Given the description of an element on the screen output the (x, y) to click on. 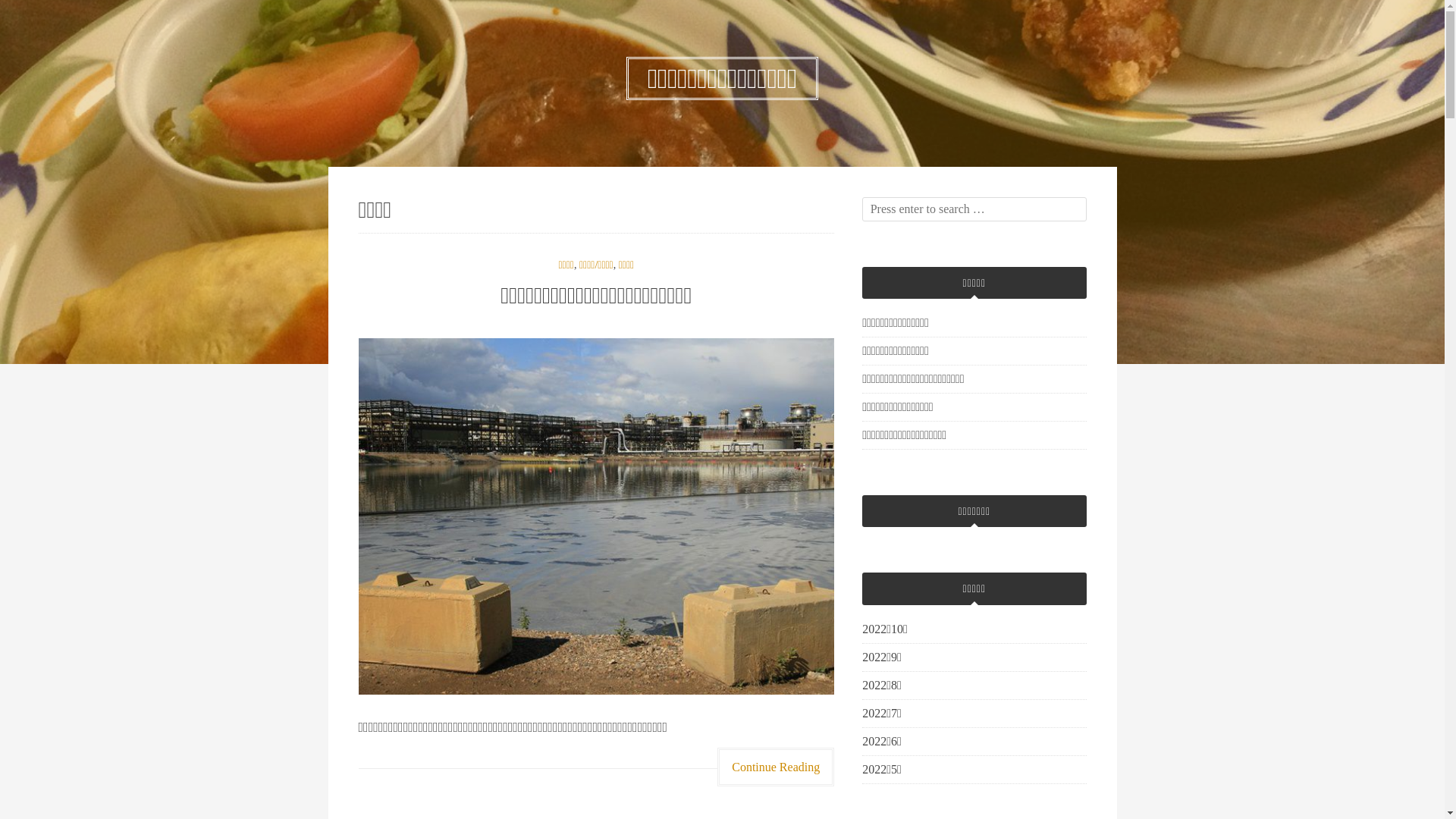
Search for: Element type: hover (973, 209)
Continue Reading Element type: text (775, 766)
